Given the description of an element on the screen output the (x, y) to click on. 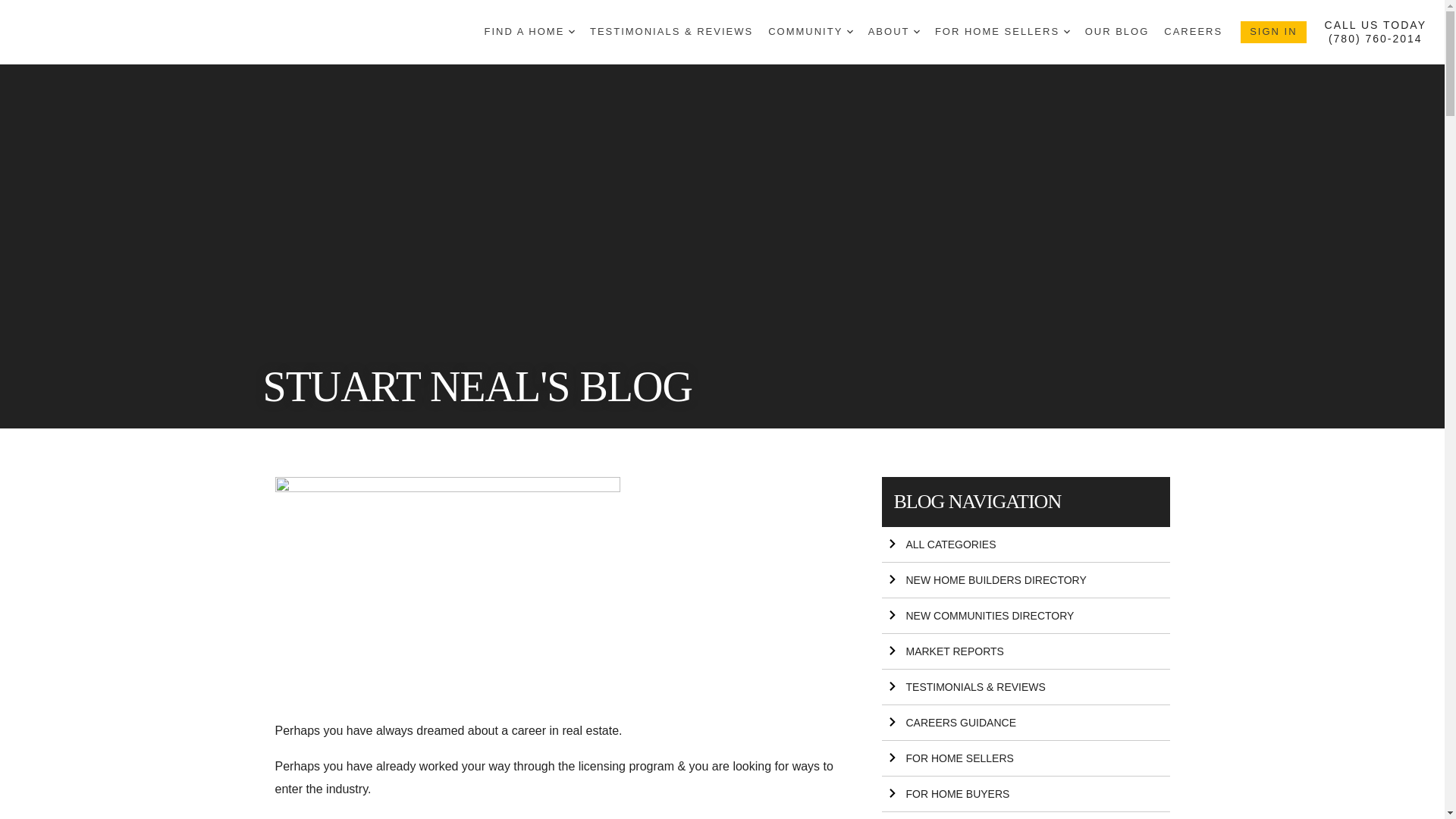
DROPDOWN ARROW (917, 31)
FIND A HOME DROPDOWN ARROW (529, 32)
DROPDOWN ARROW (572, 31)
OUR BLOG (1117, 32)
ABOUT DROPDOWN ARROW (893, 32)
DROPDOWN ARROW (850, 31)
COMMUNITY DROPDOWN ARROW (810, 32)
DROPDOWN ARROW (1067, 31)
FOR HOME SELLERS DROPDOWN ARROW (1002, 32)
